Given the description of an element on the screen output the (x, y) to click on. 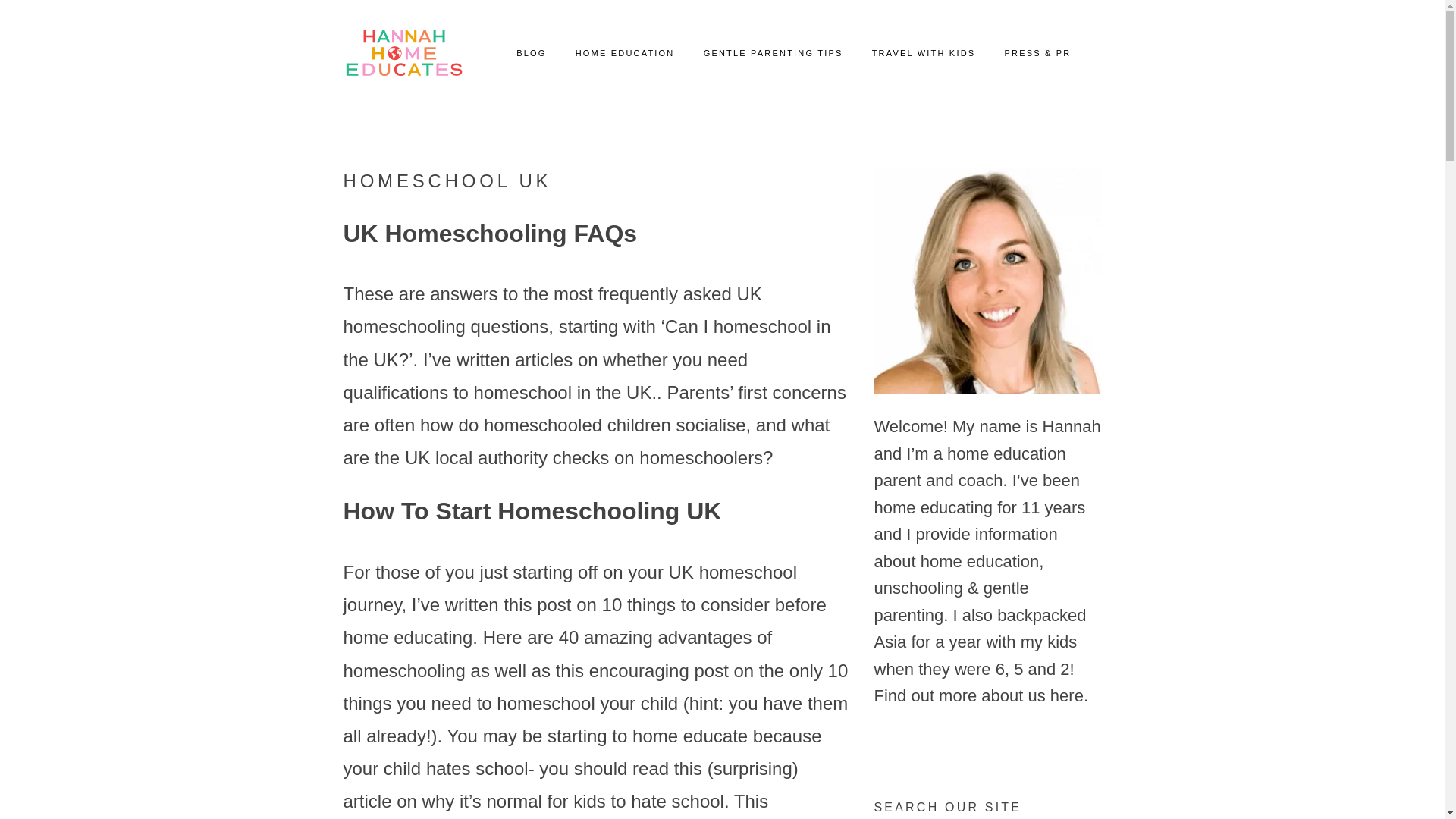
ADVENTURE TRAVEL FAMILY (403, 53)
TRAVEL WITH KIDS (923, 53)
HOME EDUCATION (625, 53)
qualifications to homeschool in the UK. (499, 392)
GENTLE PARENTING TIPS (773, 53)
